Given the description of an element on the screen output the (x, y) to click on. 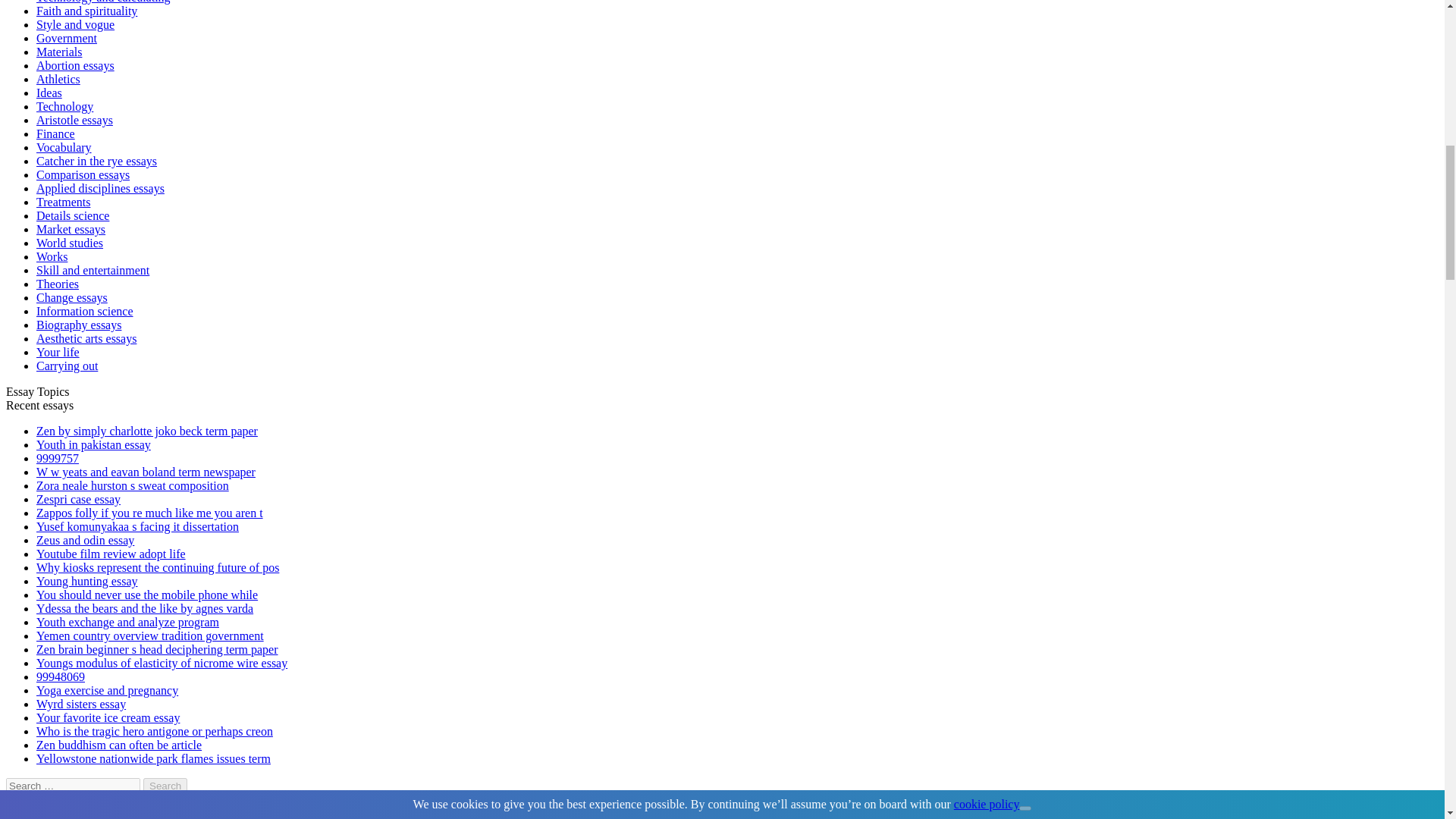
Faith and spirituality (86, 10)
Search (164, 785)
Style and vogue (75, 24)
Ideas (49, 92)
Government (66, 38)
Aristotle essays (74, 119)
Abortion essays (75, 65)
Technology (64, 106)
Athletics (58, 78)
Vocabulary (63, 146)
